Given the description of an element on the screen output the (x, y) to click on. 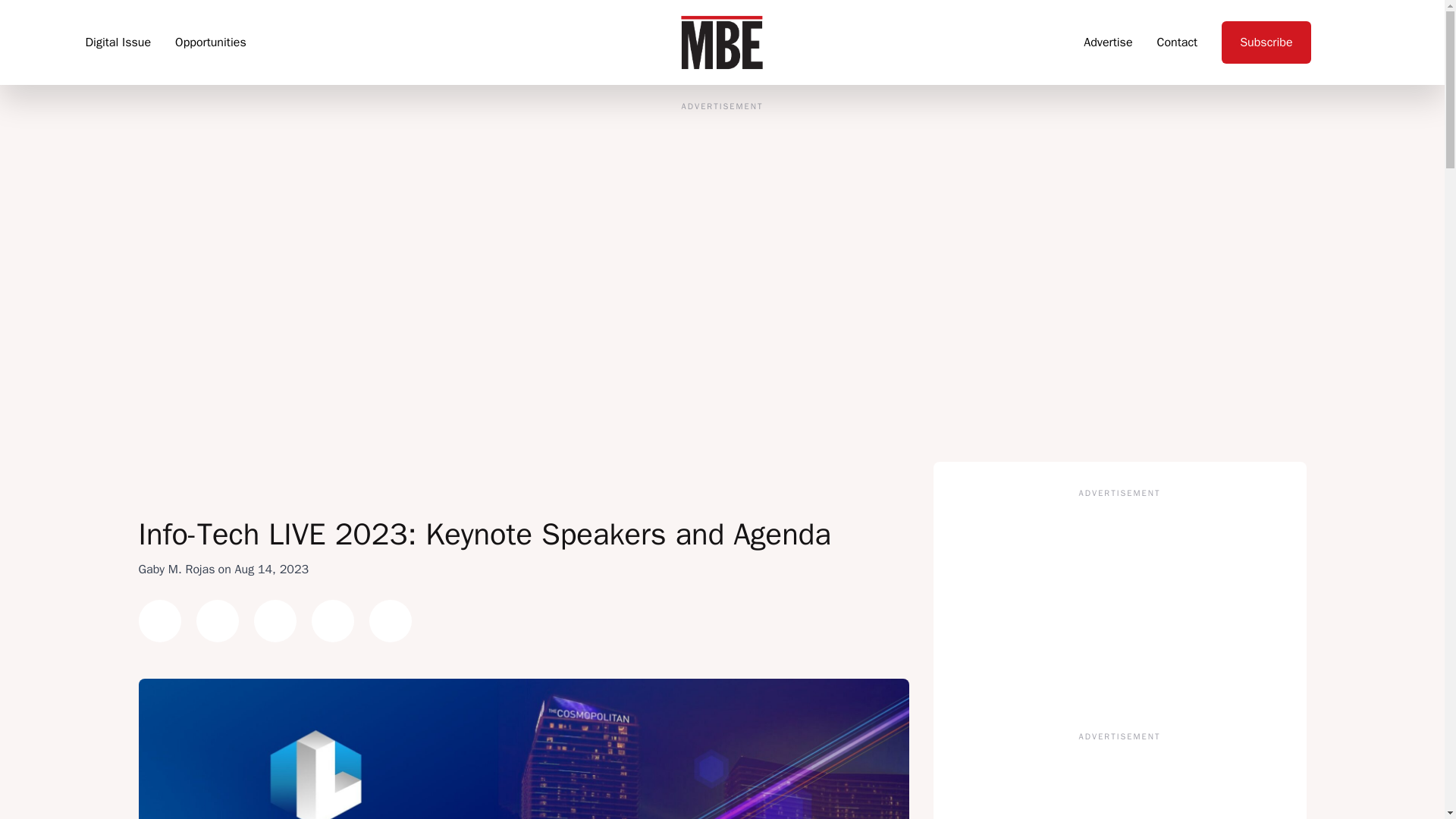
Subscribe (1265, 42)
Advertise (1107, 42)
Digital Issue (117, 42)
Contact (1177, 42)
Opportunities (210, 42)
